Given the description of an element on the screen output the (x, y) to click on. 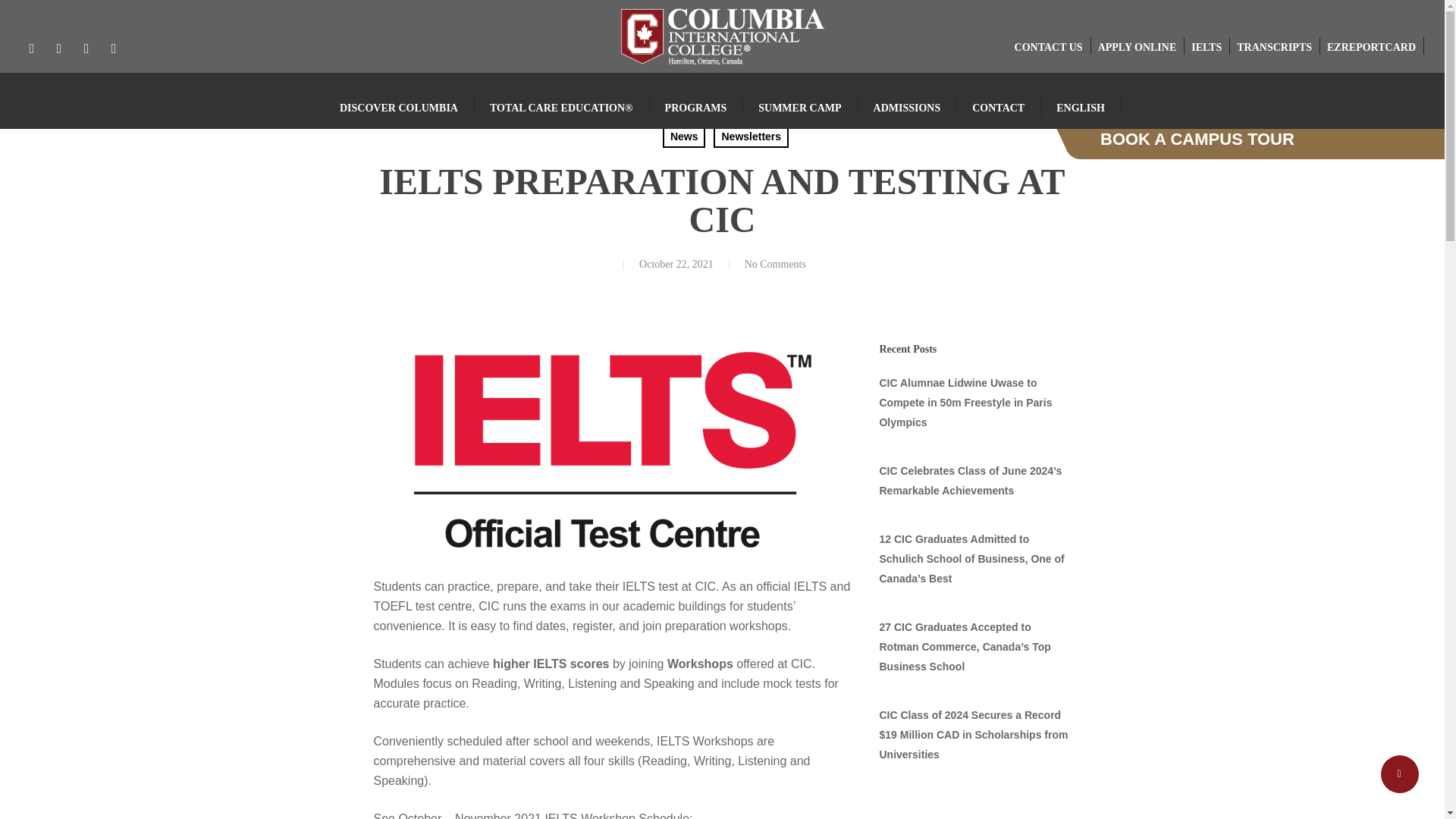
English (1080, 108)
FACEBOOK (58, 47)
IELTS (1206, 47)
CONTACT US (1048, 47)
INSTAGRAM (114, 47)
TWITTER (31, 47)
EZREPORTCARD (1370, 47)
YOUTUBE (86, 47)
TRANSCRIPTS (1273, 47)
DISCOVER COLUMBIA (398, 108)
